Given the description of an element on the screen output the (x, y) to click on. 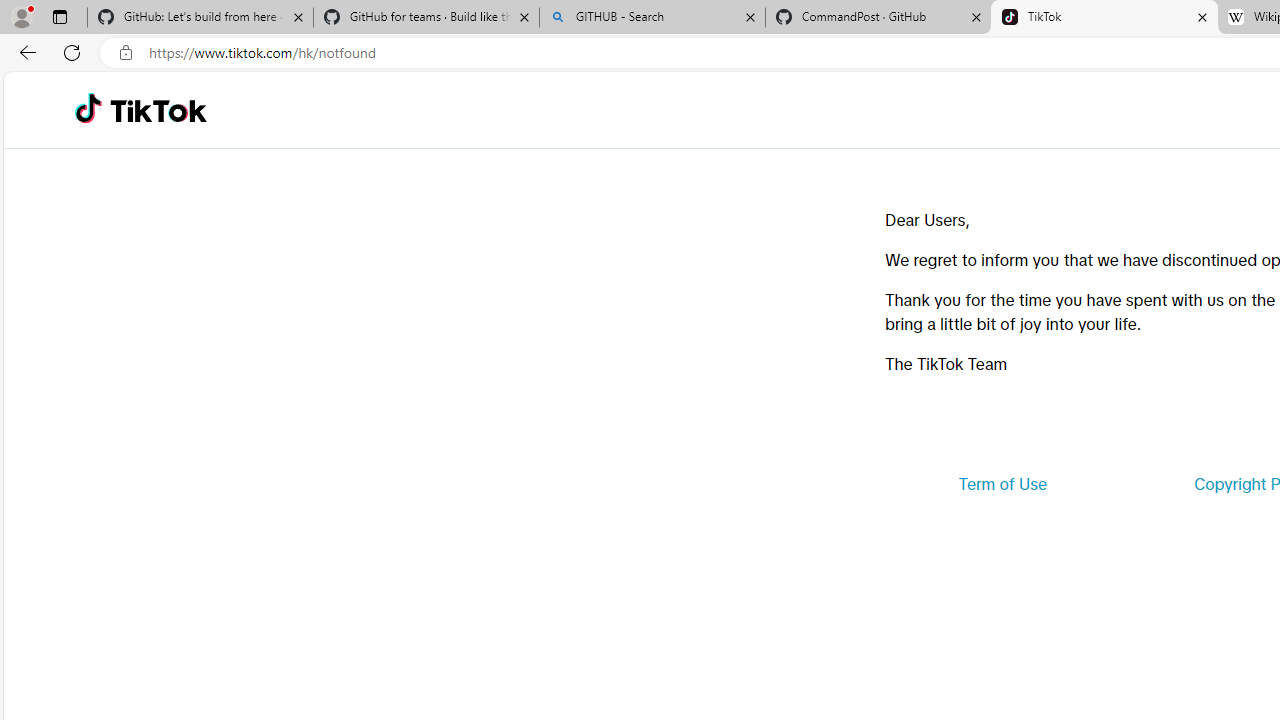
GITHUB - Search (652, 17)
TikTok (1104, 17)
Term of Use (1002, 484)
TikTok (158, 110)
